Given the description of an element on the screen output the (x, y) to click on. 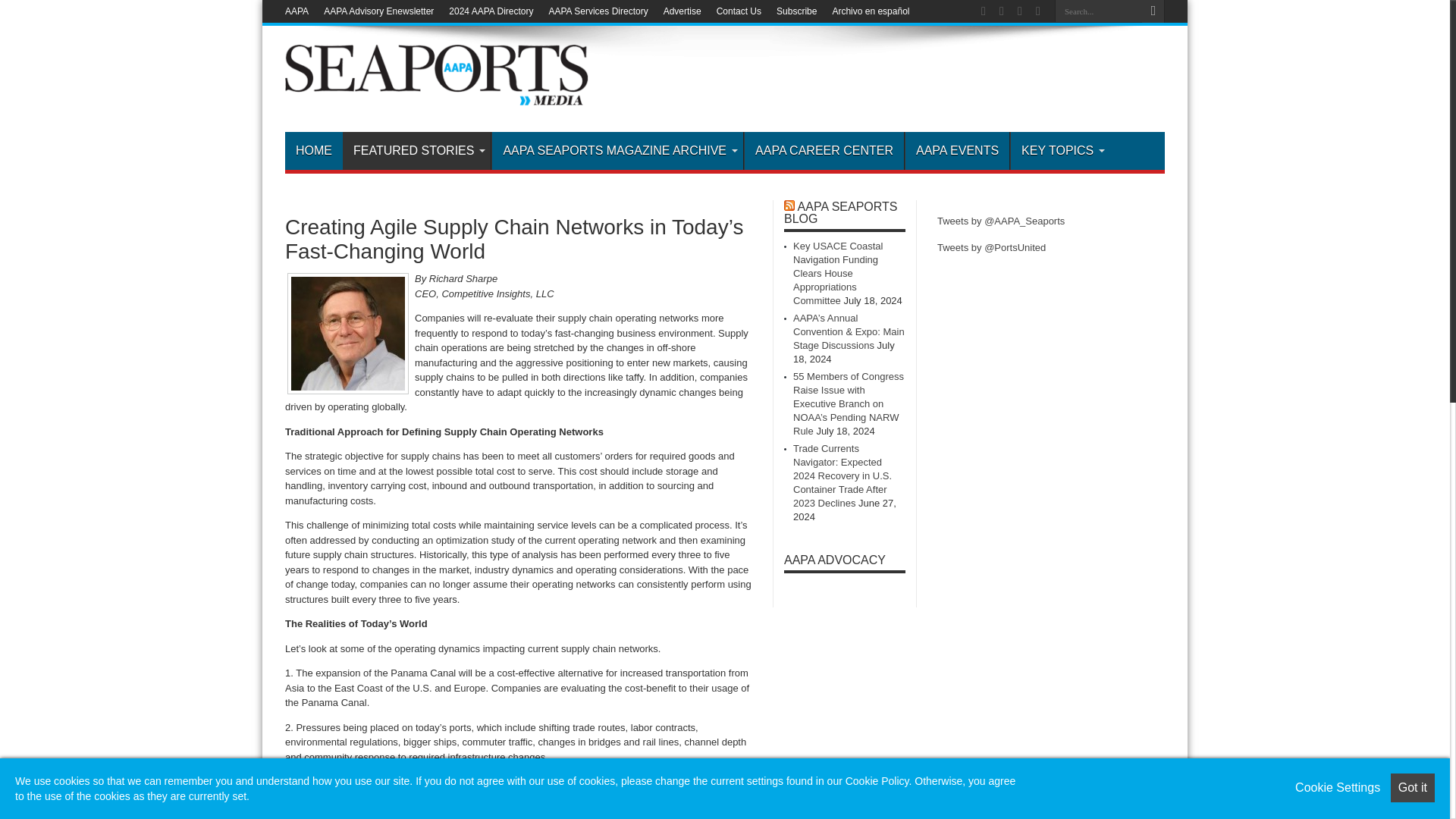
AAPA SEAPORTS MAGAZINE ARCHIVE (617, 150)
Advertise (682, 11)
AAPA EVENTS (956, 150)
KEY TOPICS (1059, 150)
Subscribe (796, 11)
Contact Us (738, 11)
AAPA Advisory Enewsletter (378, 11)
HOME (313, 150)
Search (1152, 11)
AAPA (296, 11)
